Given the description of an element on the screen output the (x, y) to click on. 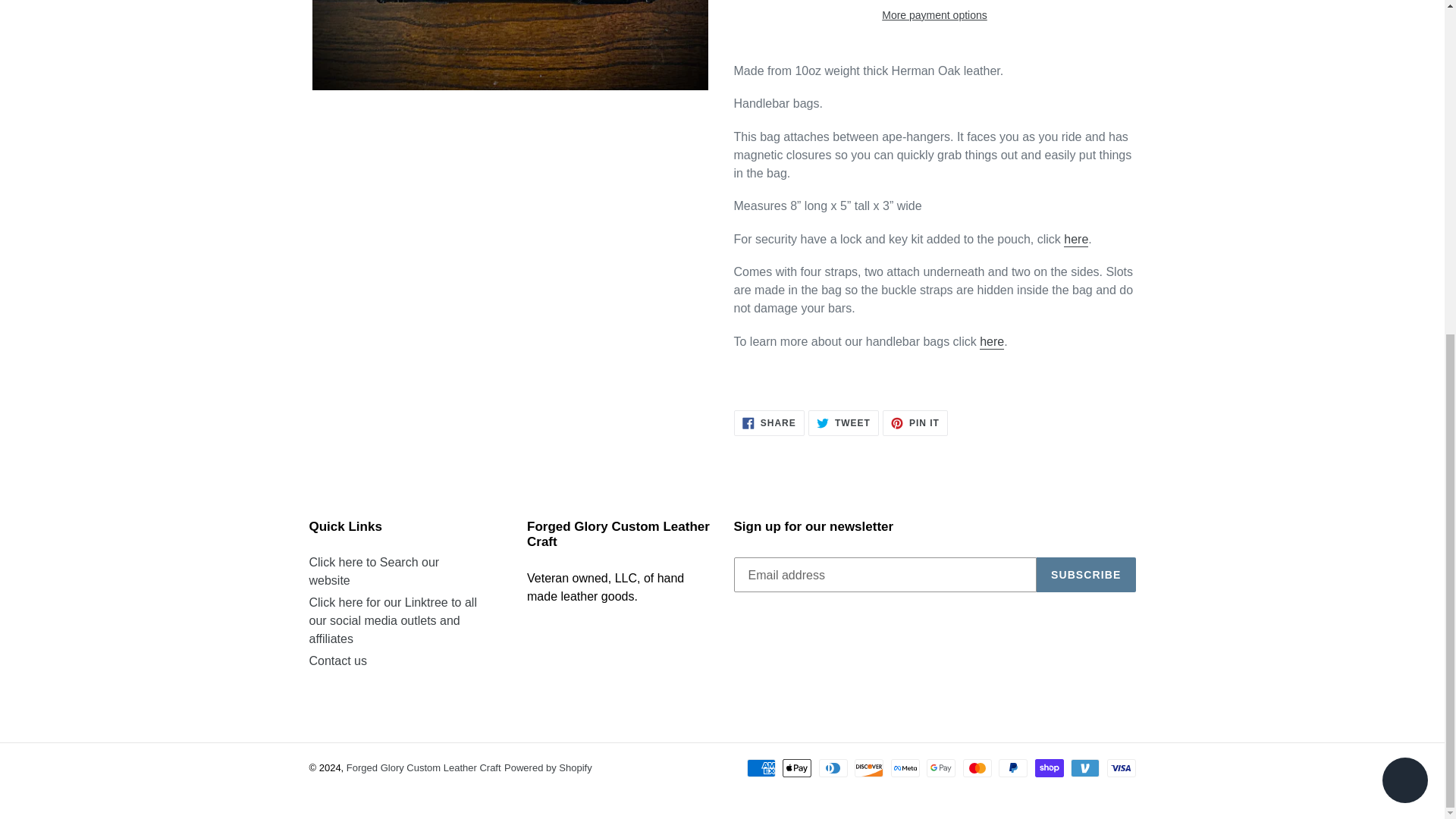
Lock and key kit (1075, 239)
Shopify online store chat (1404, 223)
Handlebar Bags (991, 341)
